Given the description of an element on the screen output the (x, y) to click on. 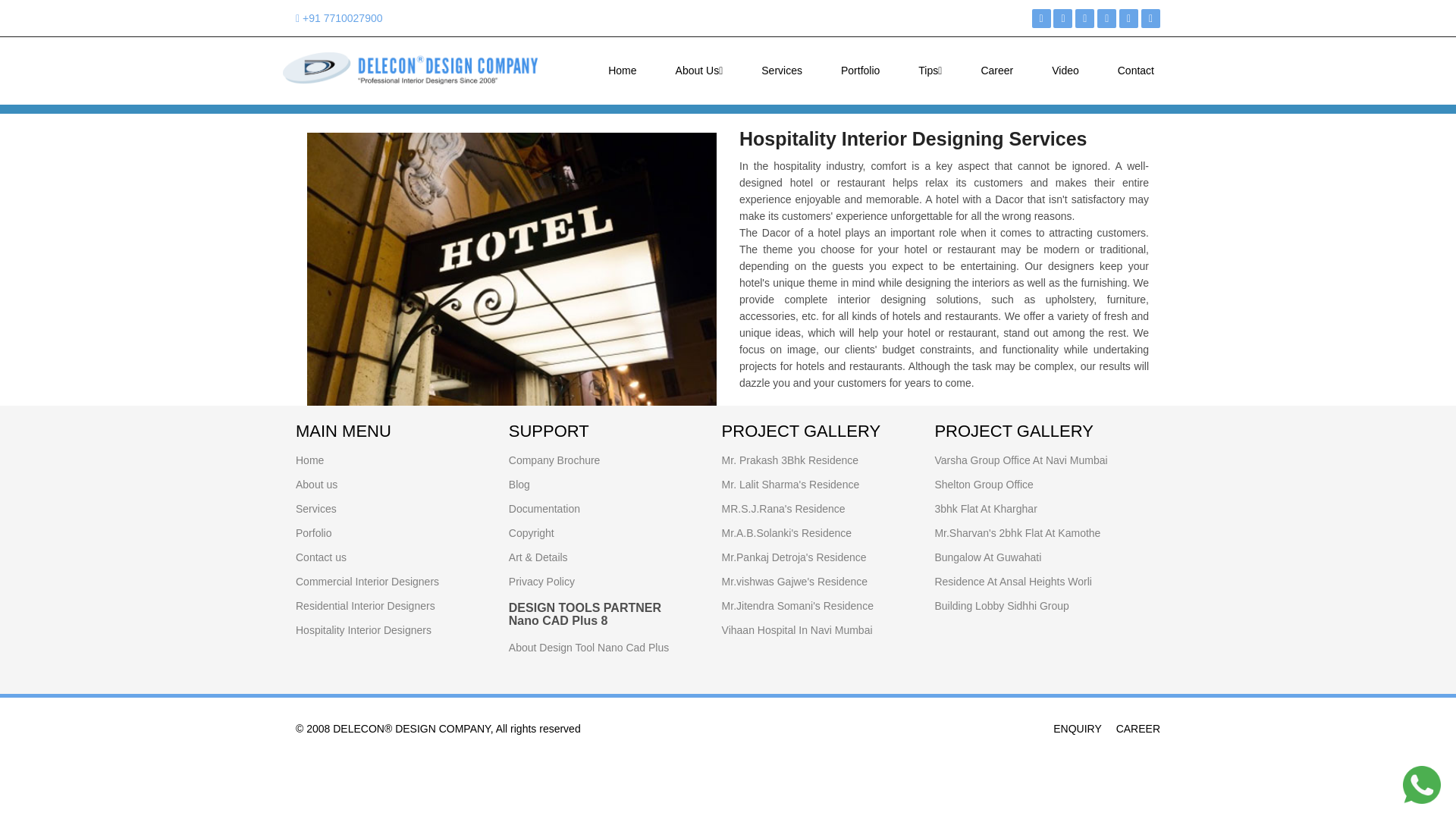
Portfolio (859, 70)
About Us (699, 70)
Documentation (543, 508)
Delecon Design Company (409, 68)
Tips (929, 70)
Copyright (531, 532)
Career (996, 70)
Contact us (320, 557)
Mr.A.B.Solanki's Residence (786, 532)
Mr. Prakash 3Bhk Residence (790, 460)
